Given the description of an element on the screen output the (x, y) to click on. 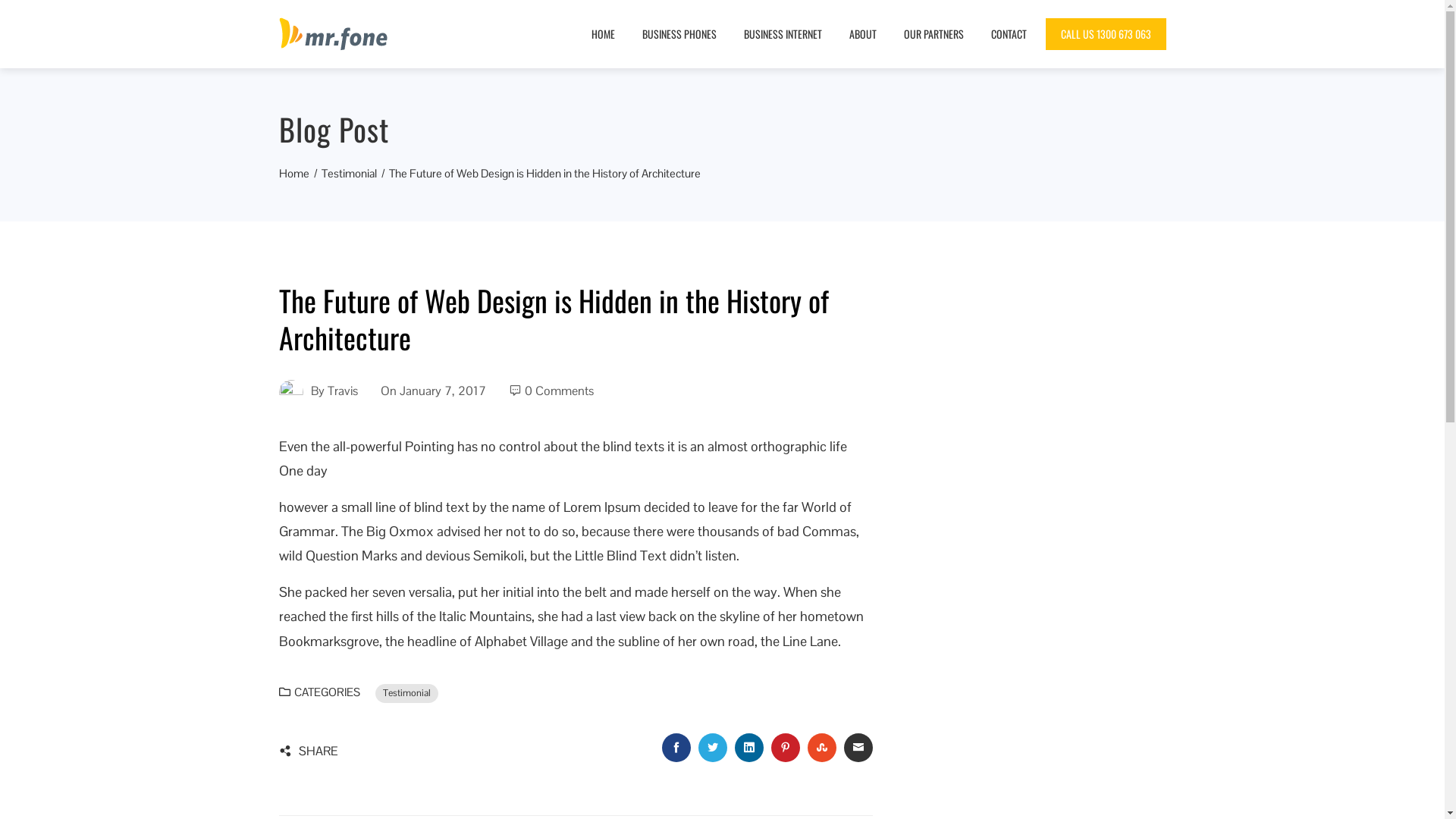
CONTACT Element type: text (1008, 34)
HOME Element type: text (602, 34)
FACEBOOK Element type: text (676, 746)
CALL US 1300 673 063 Element type: text (1104, 34)
BUSINESS INTERNET Element type: text (782, 34)
PINTEREST Element type: text (785, 746)
Testimonial Element type: text (405, 693)
Home Element type: text (294, 173)
OUR PARTNERS Element type: text (932, 34)
LINKEDIN Element type: text (748, 746)
STUMBLEUPON Element type: text (821, 746)
EMAIL Element type: text (858, 746)
BUSINESS PHONES Element type: text (679, 34)
Testimonial Element type: text (348, 173)
ABOUT Element type: text (862, 34)
TWITTER Element type: text (712, 746)
